Given the description of an element on the screen output the (x, y) to click on. 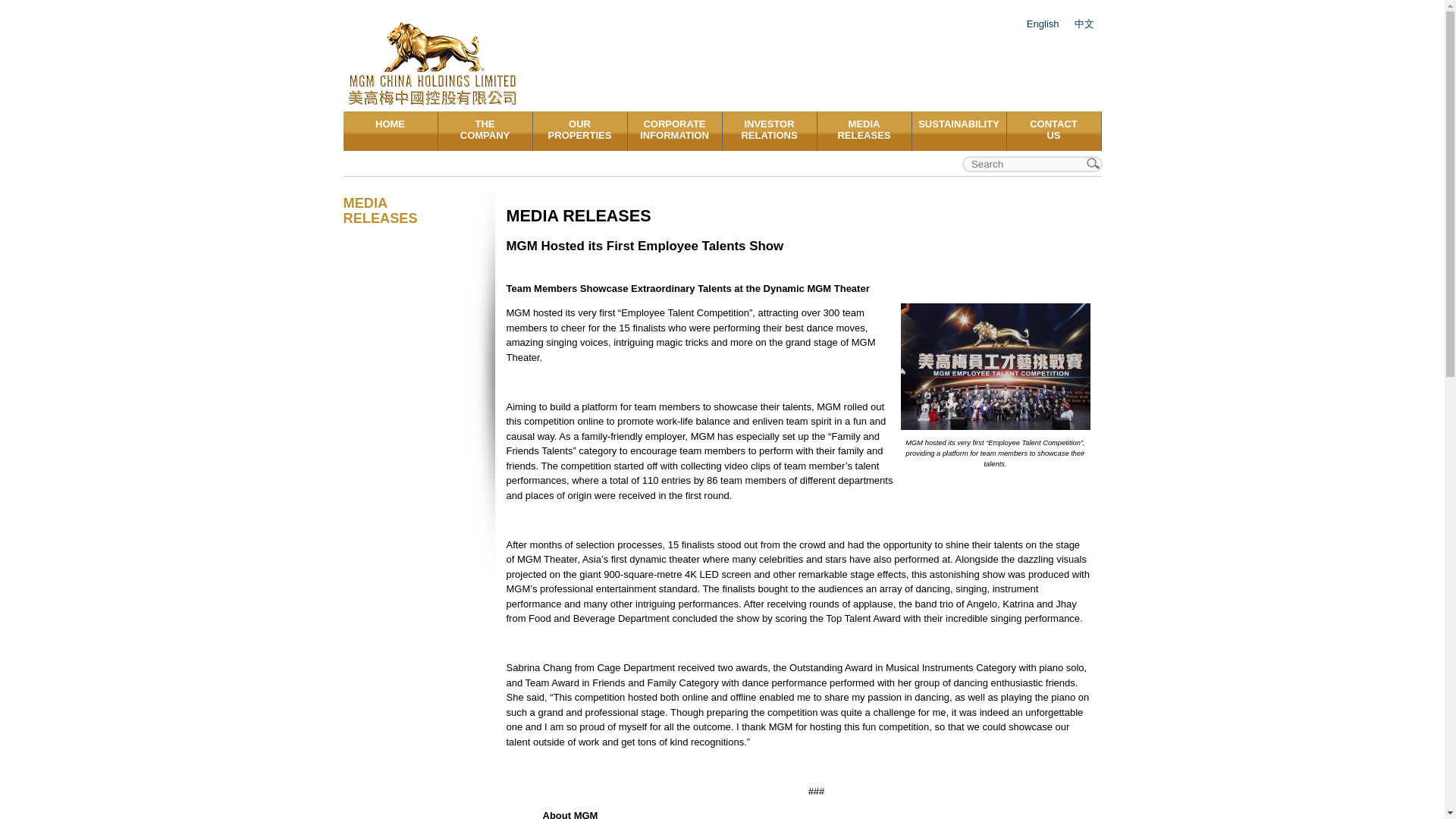
Logo (435, 63)
CORPORATE INFORMATION (674, 129)
HOME (579, 129)
